Given the description of an element on the screen output the (x, y) to click on. 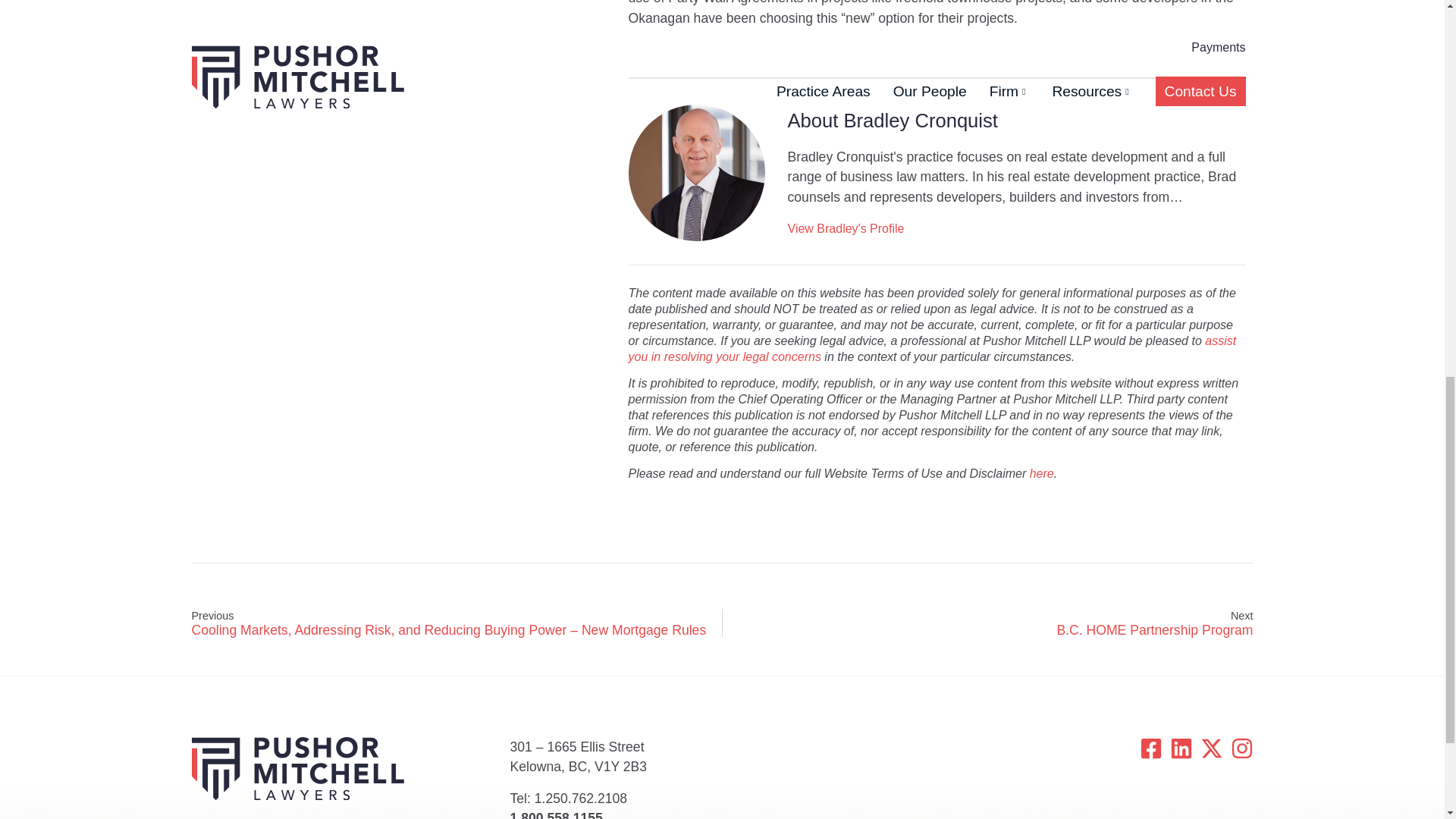
Bradley Cronquist (696, 172)
